Given the description of an element on the screen output the (x, y) to click on. 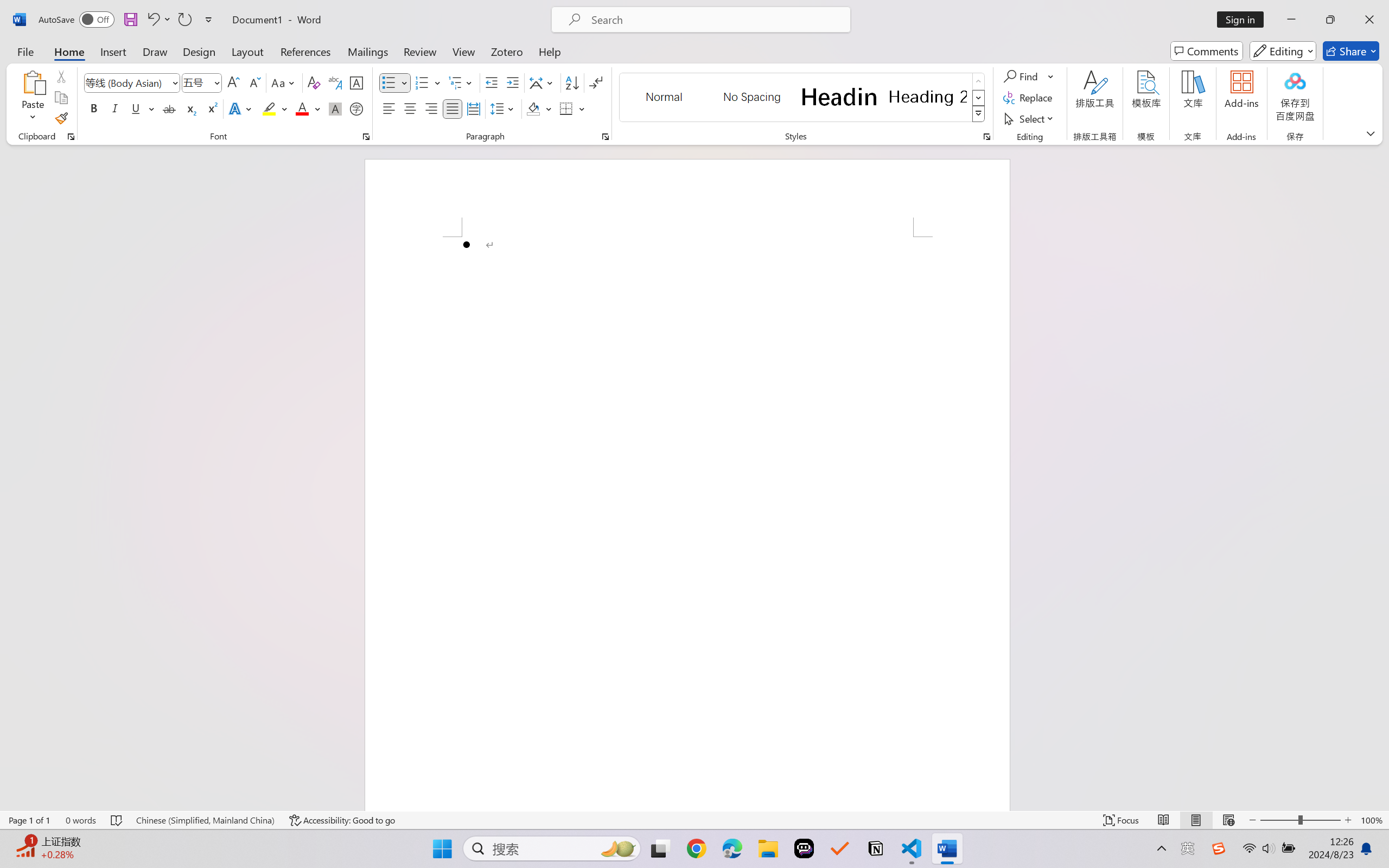
Zoom 100% (1372, 819)
